Given the description of an element on the screen output the (x, y) to click on. 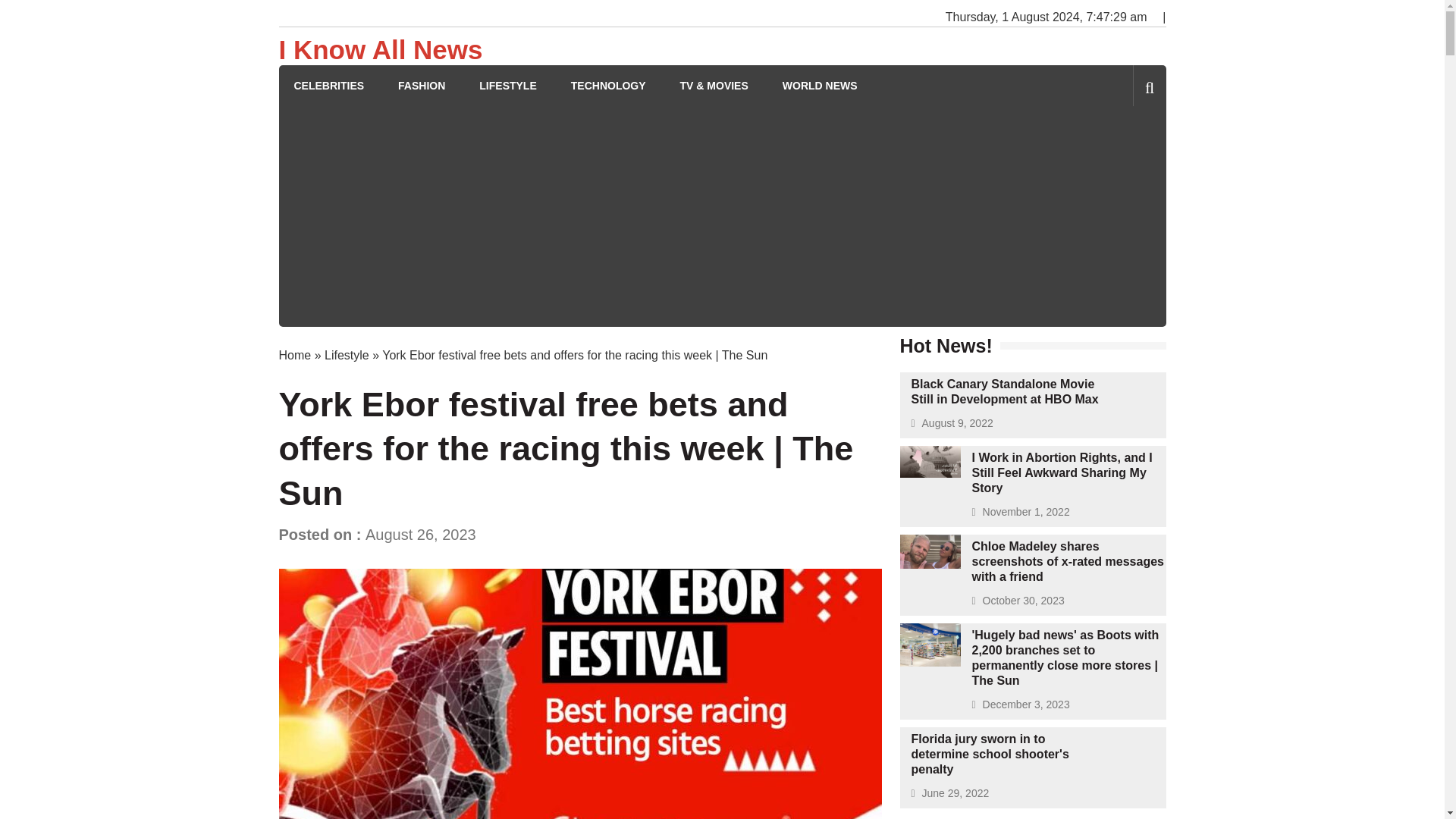
CELEBRITIES (329, 86)
LIFESTYLE (507, 86)
Search (1123, 150)
WORLD NEWS (820, 86)
Home (295, 354)
FASHION (421, 86)
Lifestyle (346, 354)
I Know All News (381, 50)
TECHNOLOGY (608, 86)
August 26, 2023 (420, 534)
